Given the description of an element on the screen output the (x, y) to click on. 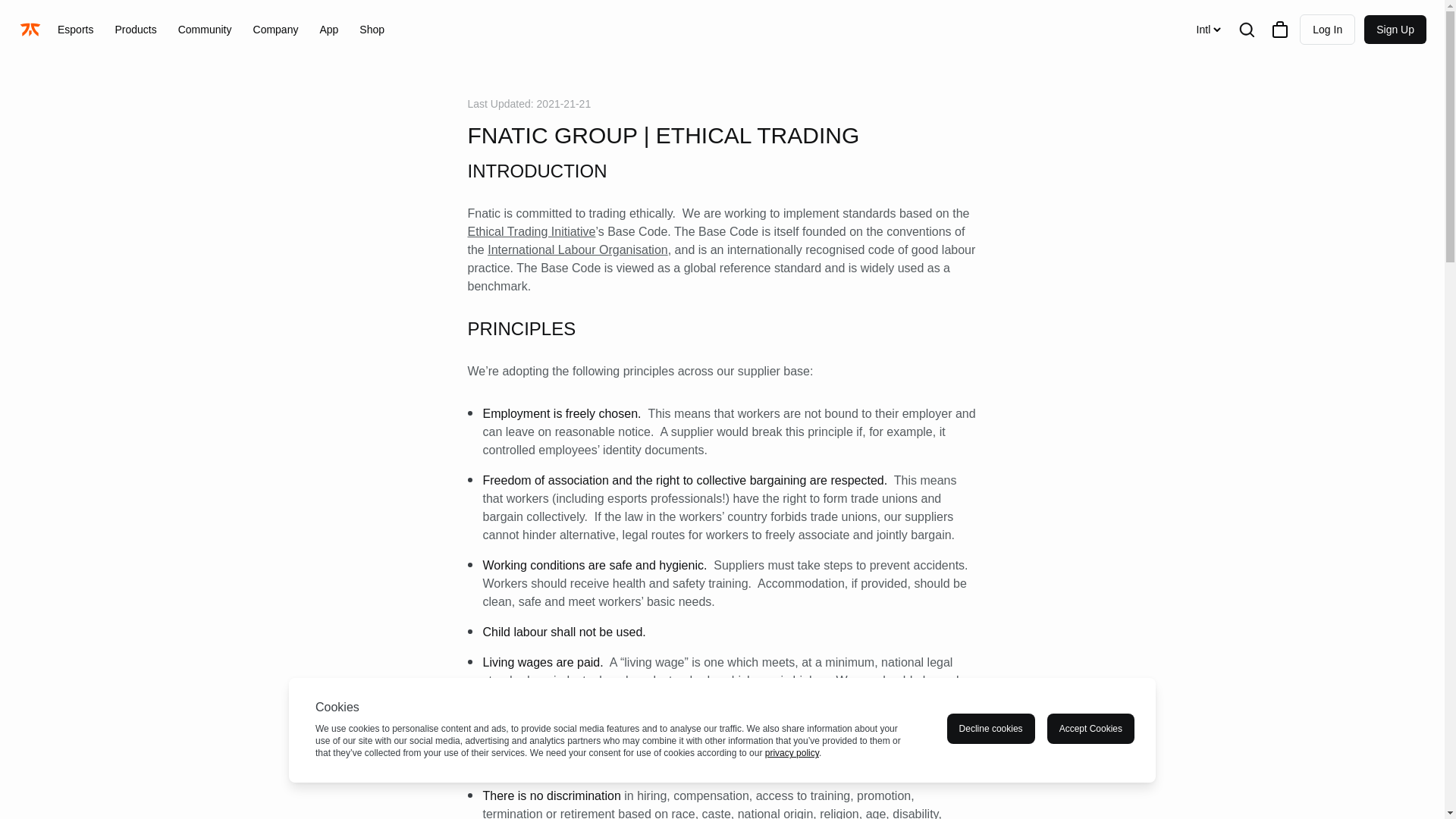
Decline cookies (991, 728)
Search button. (1246, 29)
Community (204, 29)
Company (275, 29)
Shop (371, 29)
Accept Cookies (1090, 728)
privacy policy (791, 752)
International Labour Organisation (577, 249)
Esports (74, 29)
Ethical Trading Initiative (531, 231)
Sign Up (1395, 29)
App (328, 29)
Log In (1327, 29)
Products (134, 29)
